Given the description of an element on the screen output the (x, y) to click on. 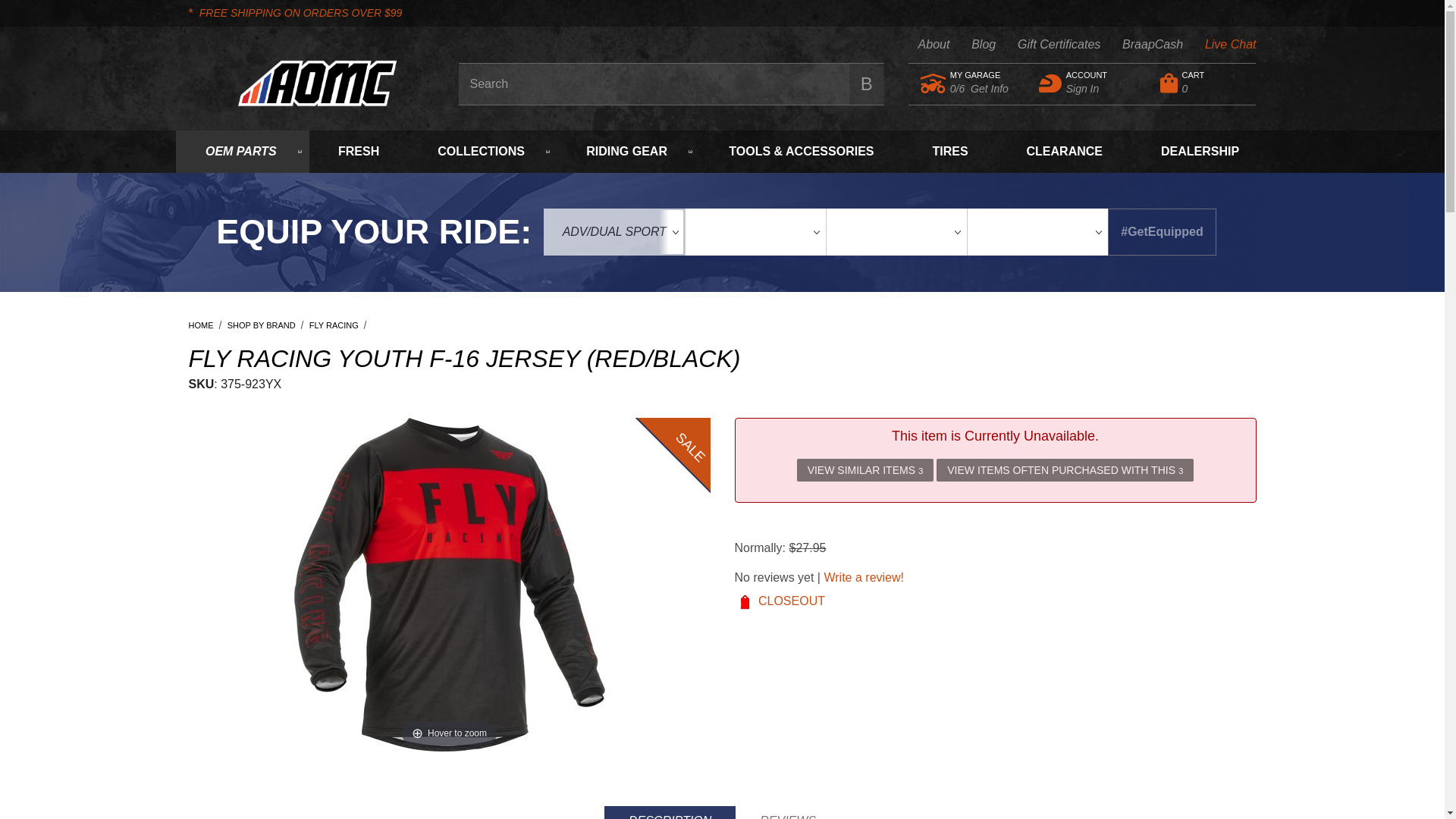
Get Info (990, 88)
Sign In (1204, 82)
About (1030, 255)
Blog (923, 45)
MY GARAGE (972, 45)
OEM PARTS (979, 74)
BraapCash (242, 151)
Live Chat (1088, 82)
Gift Certificates (1141, 45)
